Given the description of an element on the screen output the (x, y) to click on. 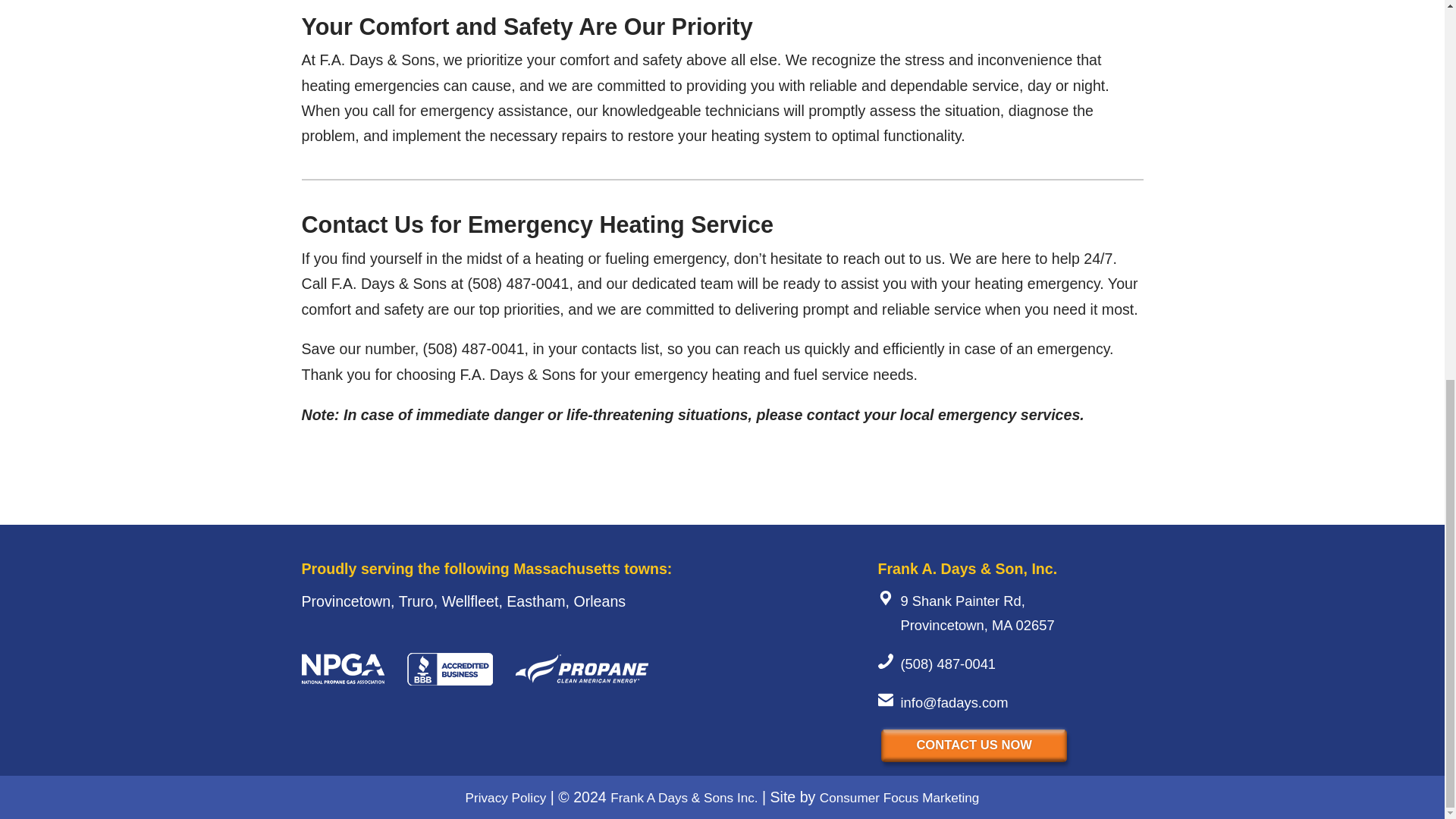
Privacy Policy (506, 797)
Consumer Focus Marketing (899, 797)
CONTACT US NOW (973, 745)
